Given the description of an element on the screen output the (x, y) to click on. 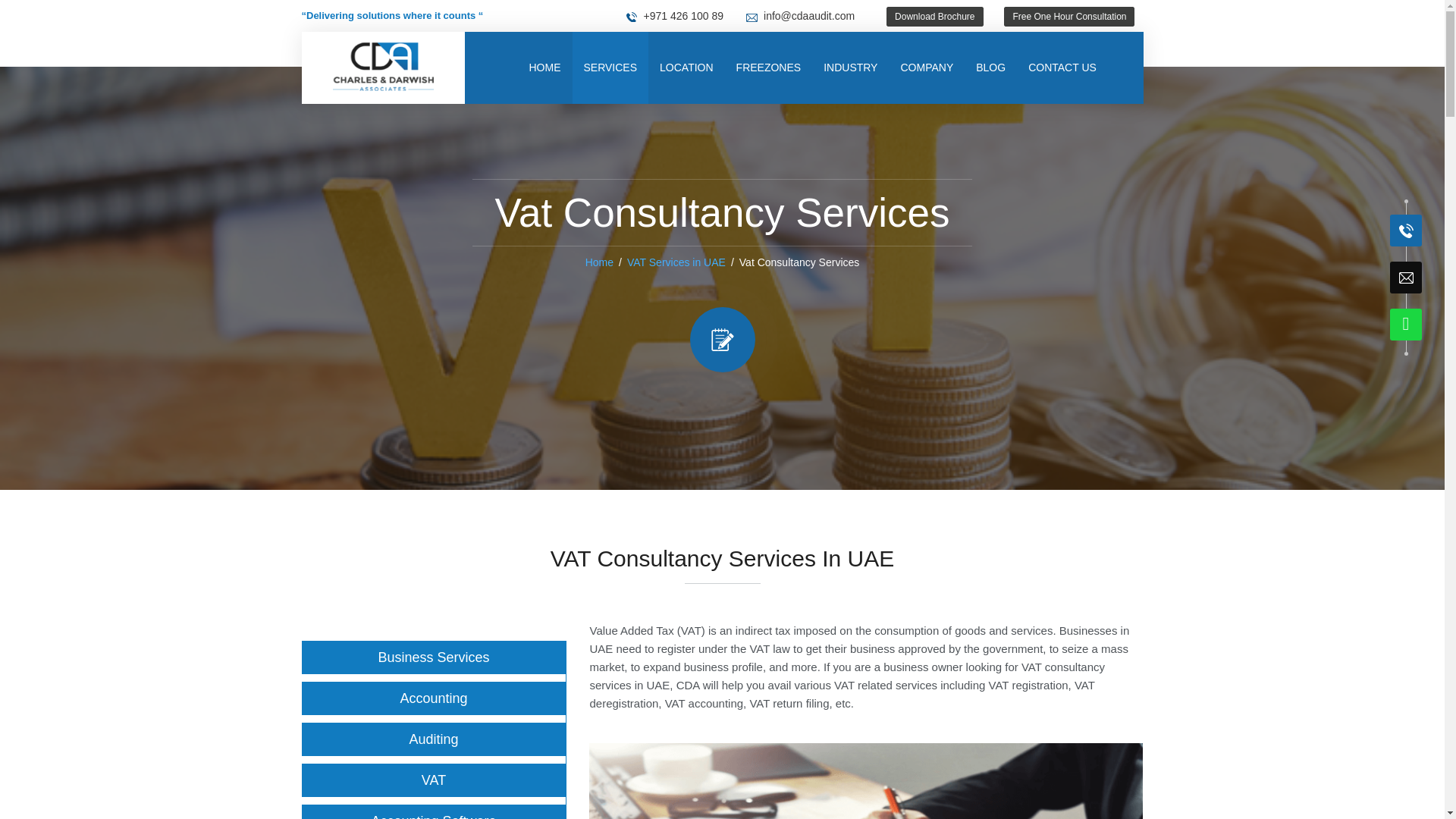
SERVICES (609, 67)
CDA (383, 67)
Free One Hour Consultation (1068, 15)
Download Brochure (934, 15)
